Given the description of an element on the screen output the (x, y) to click on. 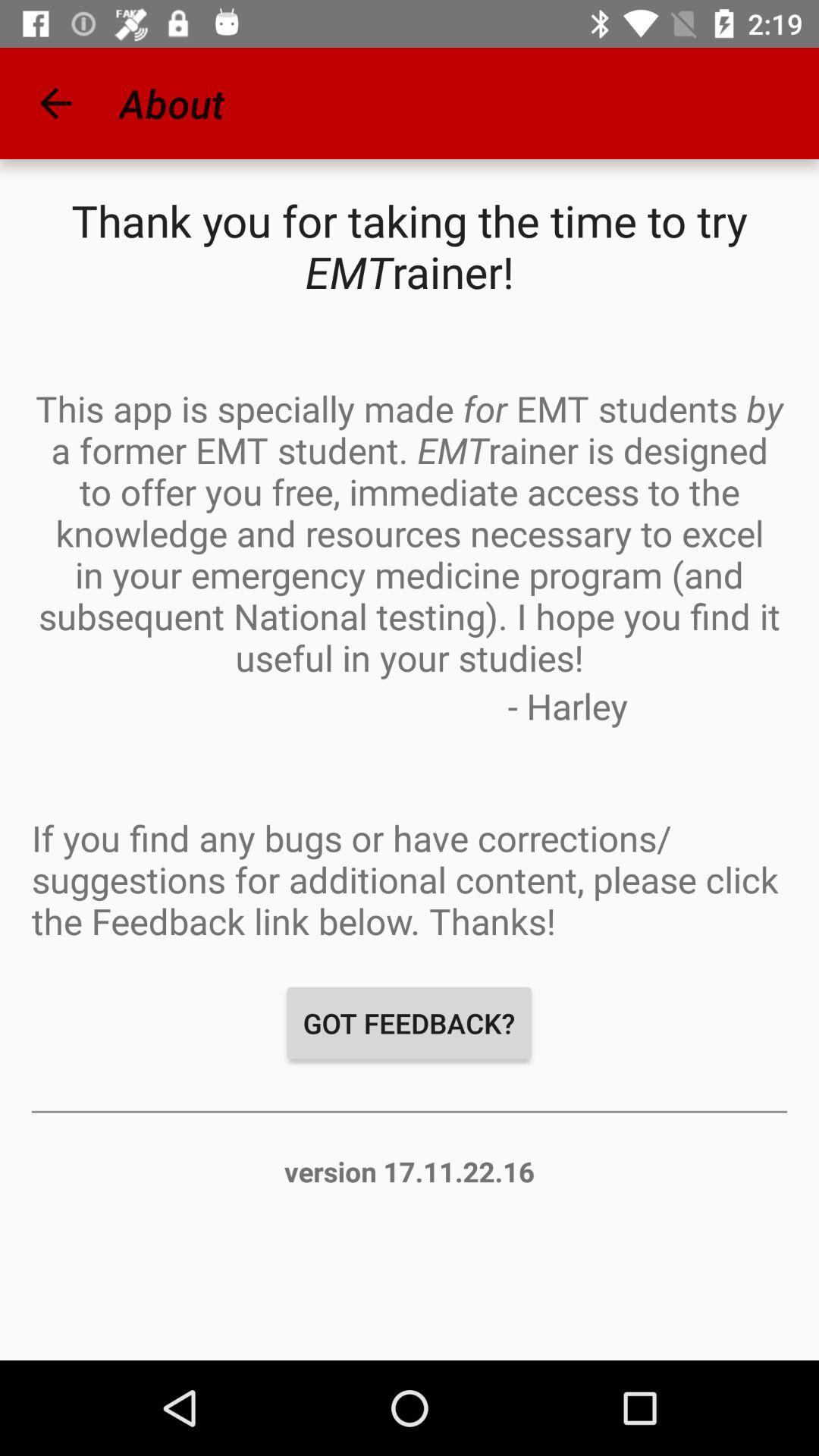
scroll to the got feedback? (409, 1022)
